Given the description of an element on the screen output the (x, y) to click on. 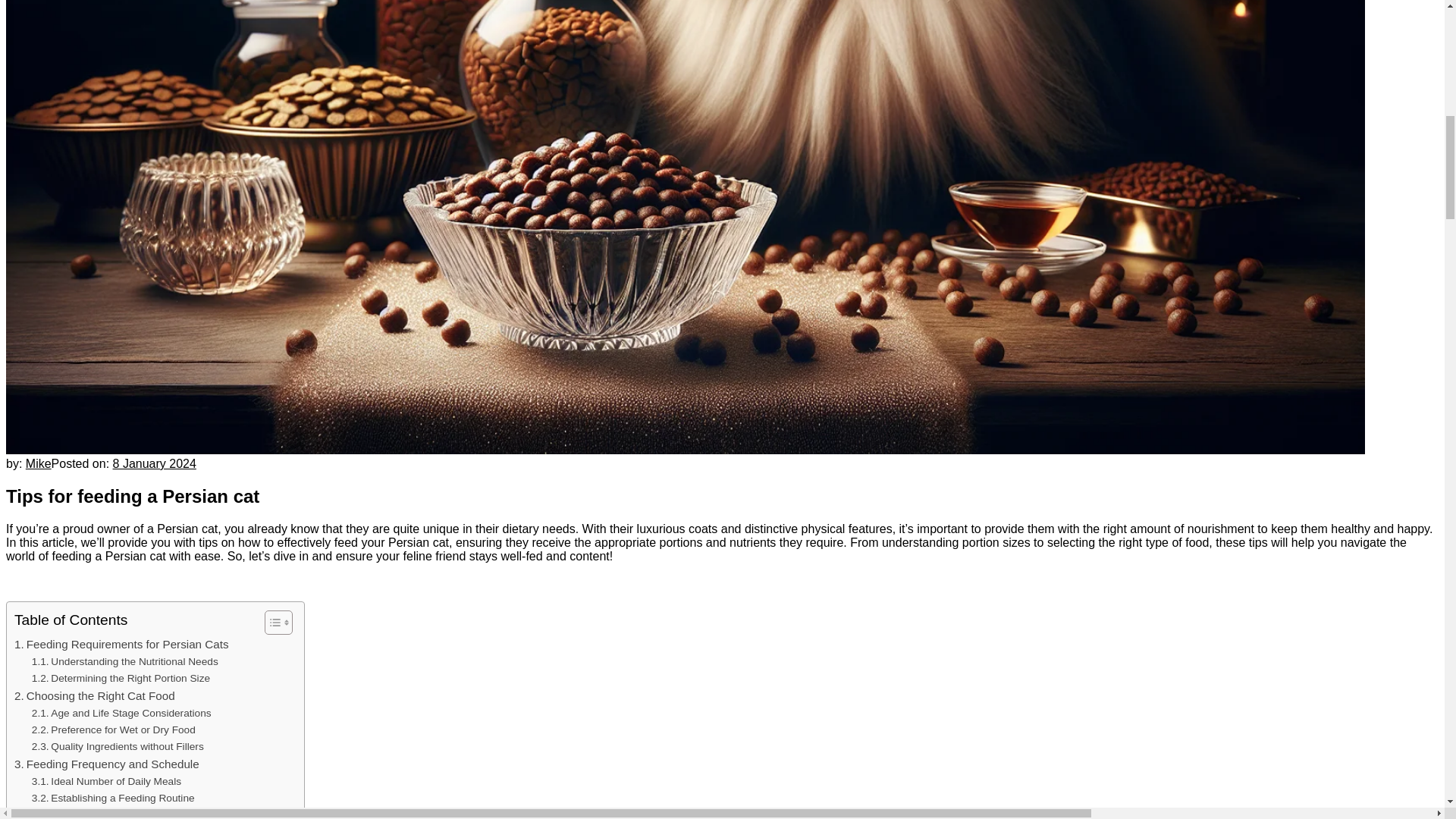
Feeding Frequency and Schedule (106, 764)
Establishing a Feeding Routine (113, 798)
Ideal Number of Daily Meals (106, 781)
Mike (38, 463)
Quality Ingredients without Fillers (117, 746)
Age and Life Stage Considerations (121, 713)
Determining the Right Portion Size (120, 678)
Feeding Frequency and Schedule (106, 764)
Choosing the Right Cat Food (94, 696)
Choosing the Right Cat Food (94, 696)
Preference for Wet or Dry Food (113, 729)
Feeding Requirements for Persian Cats (121, 644)
Quality Ingredients without Fillers (117, 746)
Ideal Number of Daily Meals (106, 781)
Avoiding Free Feeding (93, 812)
